Given the description of an element on the screen output the (x, y) to click on. 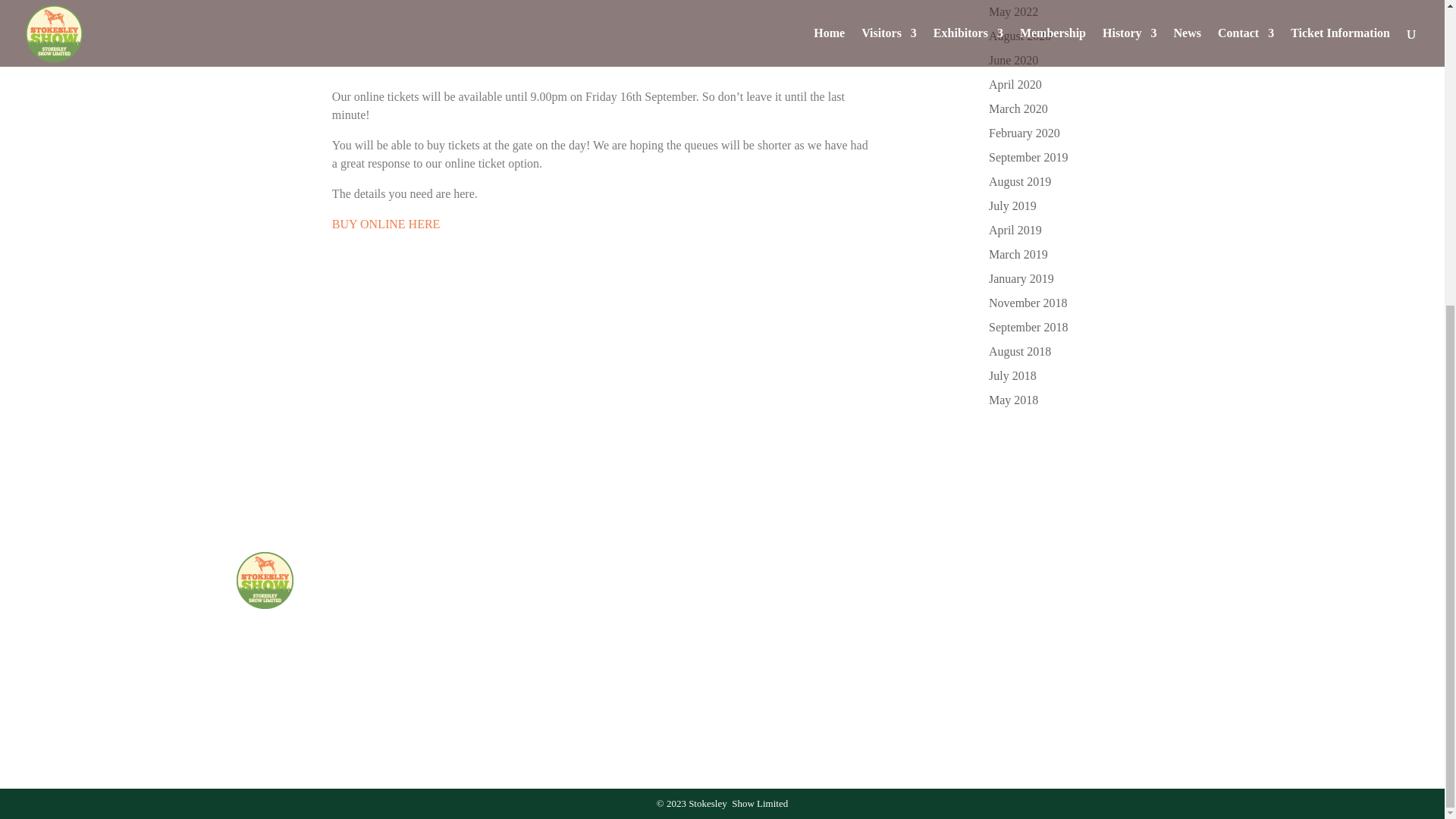
Follow on Facebook (761, 691)
Follow on Twitter (828, 691)
Follow on Instagram (793, 691)
May 2022 (1013, 11)
August 2020 (1019, 35)
stokesley-show (264, 580)
BUY ONLINE HERE (386, 223)
